Given the description of an element on the screen output the (x, y) to click on. 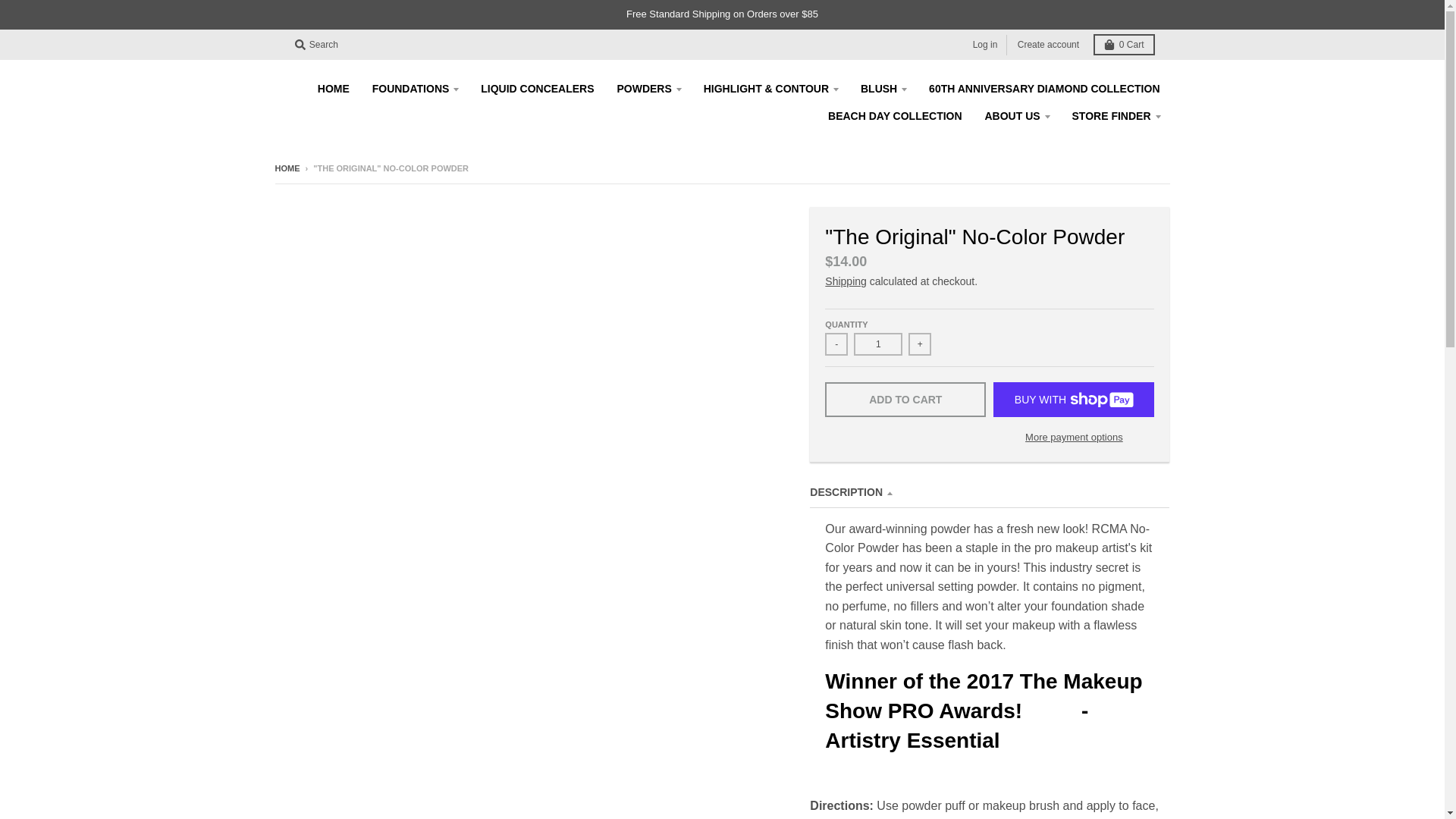
ABOUT US (1017, 115)
FOUNDATIONS (415, 88)
0 Cart (1123, 44)
Page 1 (989, 657)
Search (315, 44)
Create account (1048, 45)
1 (877, 343)
Log in (985, 45)
LIQUID CONCEALERS (537, 88)
60TH ANNIVERSARY DIAMOND COLLECTION (1043, 88)
HOME (333, 88)
BEACH DAY COLLECTION (895, 115)
Back to the frontpage (287, 167)
STORE FINDER (1116, 115)
BLUSH (882, 88)
